Given the description of an element on the screen output the (x, y) to click on. 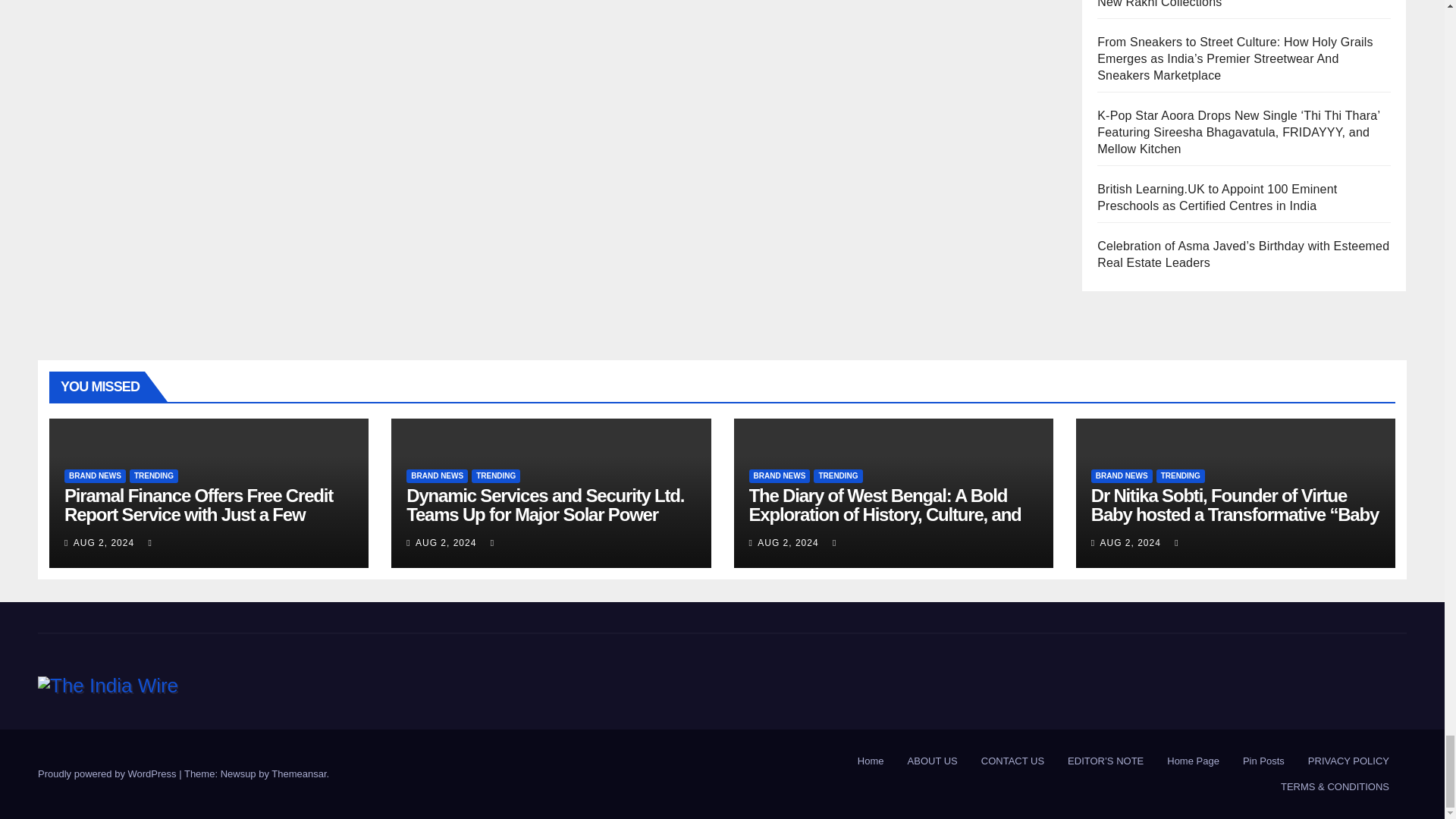
Home (870, 760)
